Given the description of an element on the screen output the (x, y) to click on. 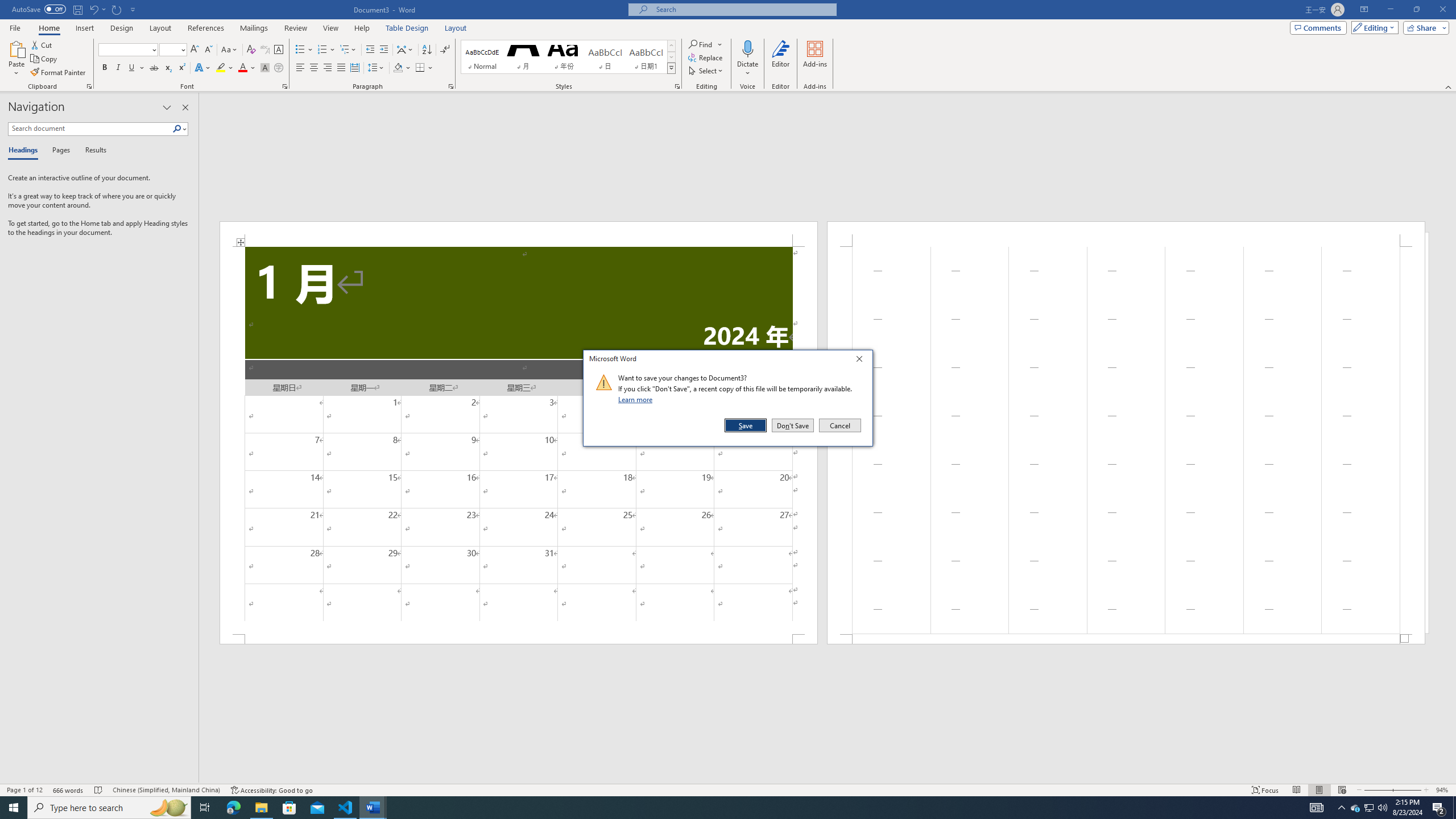
Quick Access Toolbar (74, 9)
Q2790: 100% (1382, 807)
Show/Hide Editing Marks (444, 49)
Zoom Out (1377, 790)
Microsoft Edge (233, 807)
Don't Save (792, 425)
Subscript (167, 67)
Pages (59, 150)
Font Color RGB(255, 0, 0) (241, 67)
Change Case (229, 49)
